Given the description of an element on the screen output the (x, y) to click on. 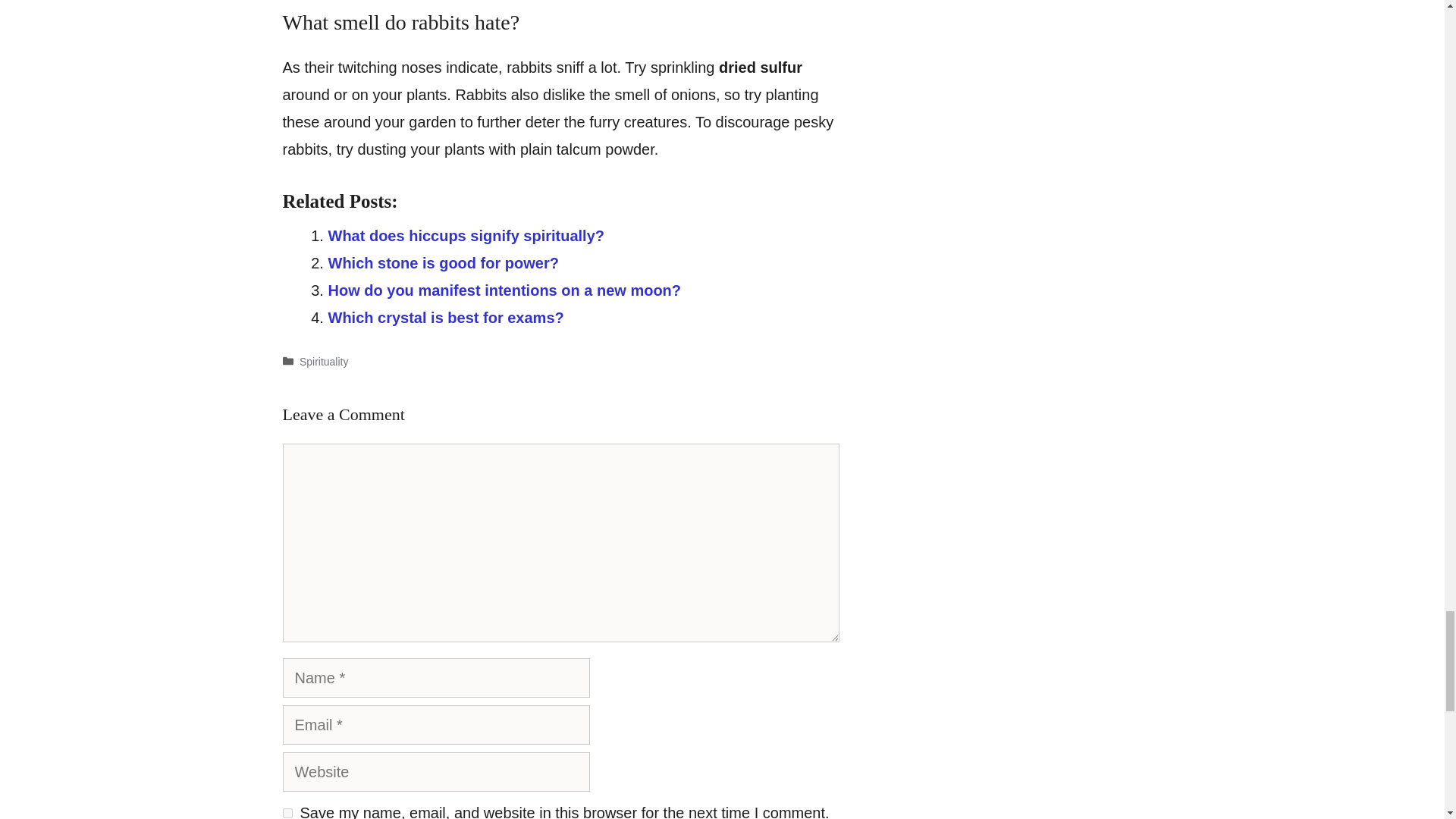
Which stone is good for power? (442, 262)
Spirituality (324, 361)
What does hiccups signify spiritually? (465, 235)
How do you manifest intentions on a new moon? (504, 289)
How do you manifest intentions on a new moon? (504, 289)
Which crystal is best for exams? (445, 317)
yes (287, 813)
Which stone is good for power? (442, 262)
Which crystal is best for exams? (445, 317)
What does hiccups signify spiritually? (465, 235)
